Given the description of an element on the screen output the (x, y) to click on. 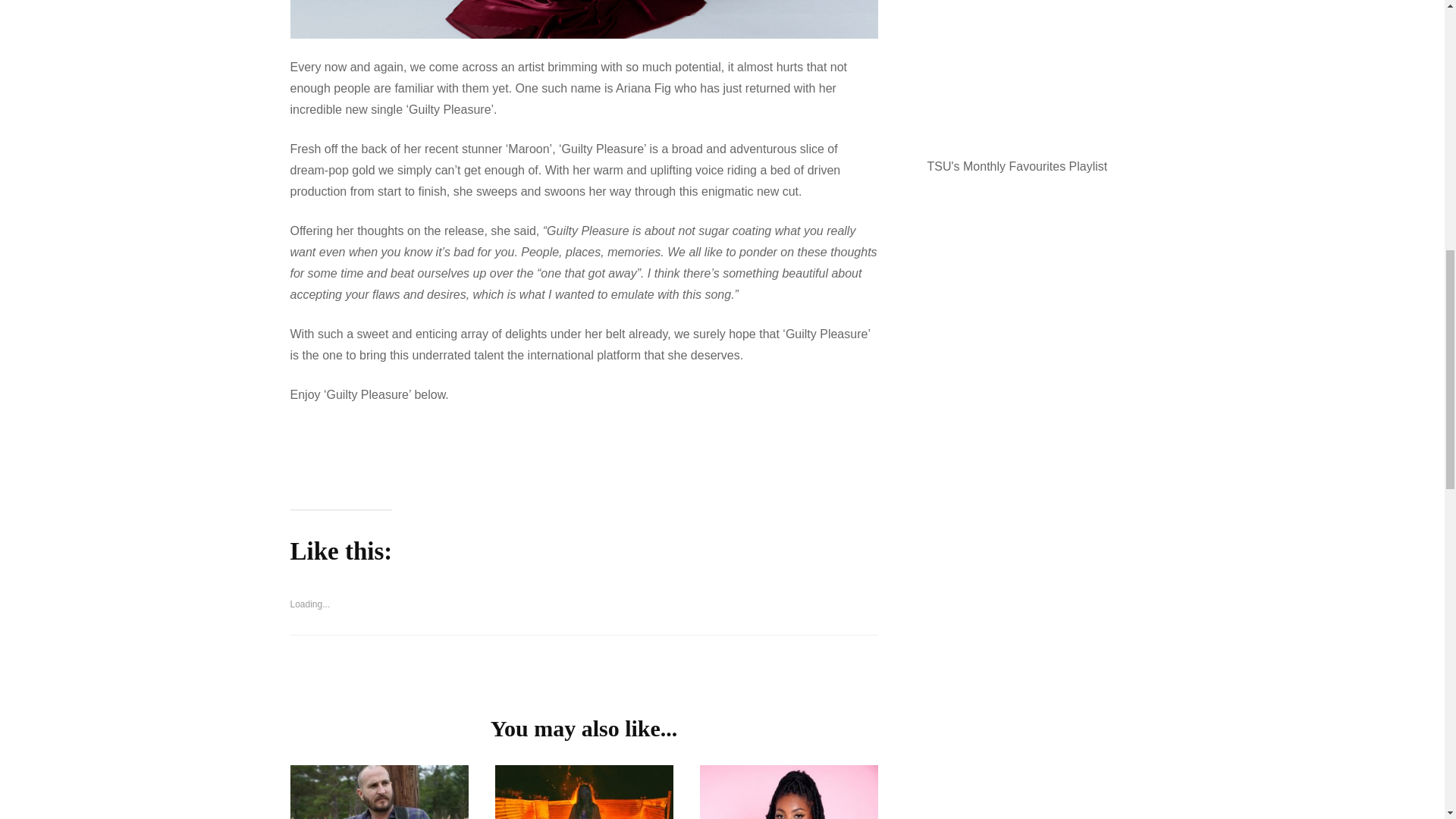
Spotify Embed: Guilty Pleasure (583, 454)
Spotify Embed: February 2024 (1040, 71)
